Given the description of an element on the screen output the (x, y) to click on. 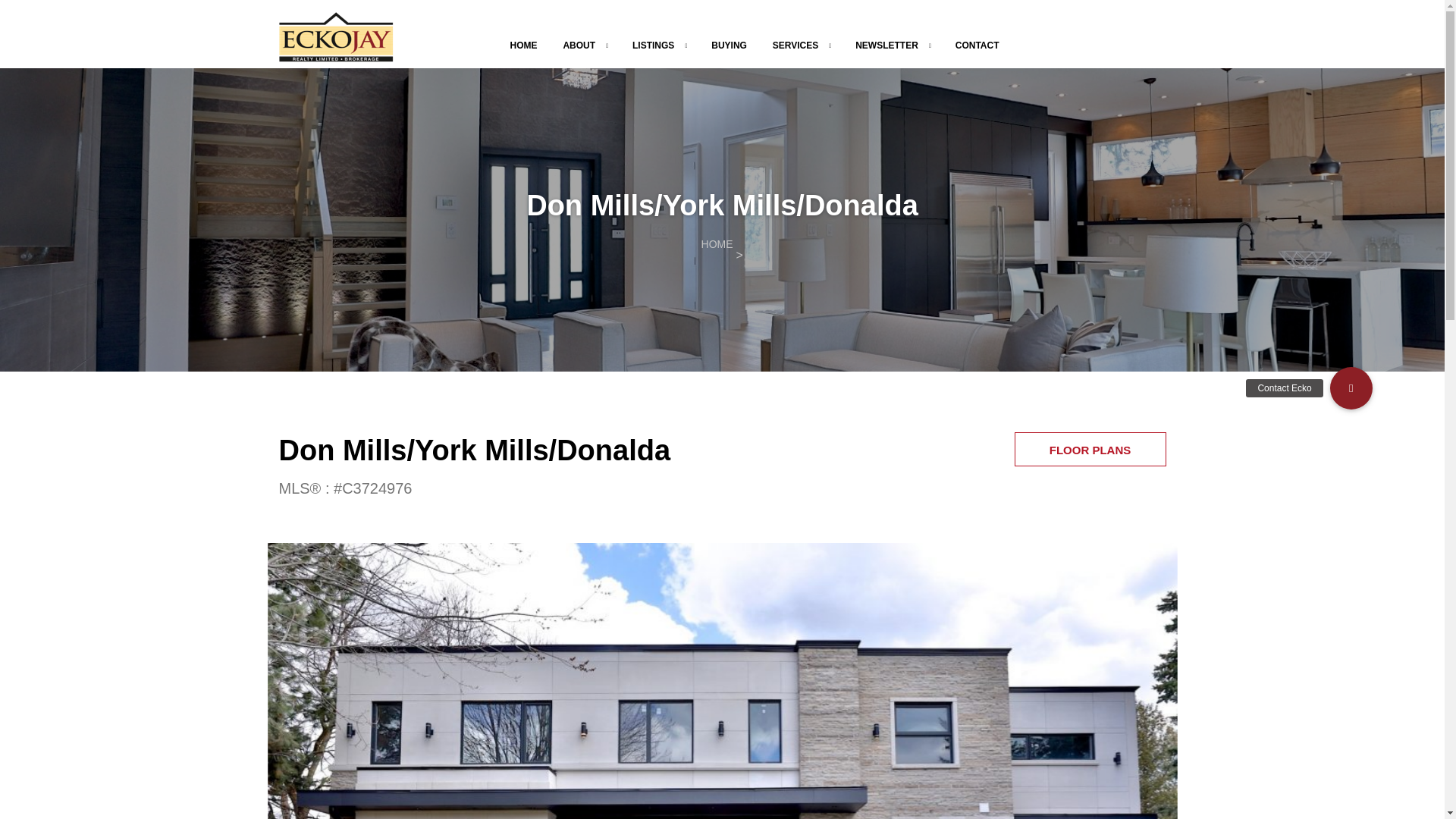
CONTACT (976, 45)
HOME (717, 244)
BUYING (728, 45)
LISTINGS (652, 45)
FLOOR PLANS (1090, 449)
SERVICES (795, 45)
NEWSLETTER (887, 45)
HOME (524, 45)
ABOUT (578, 45)
